Given the description of an element on the screen output the (x, y) to click on. 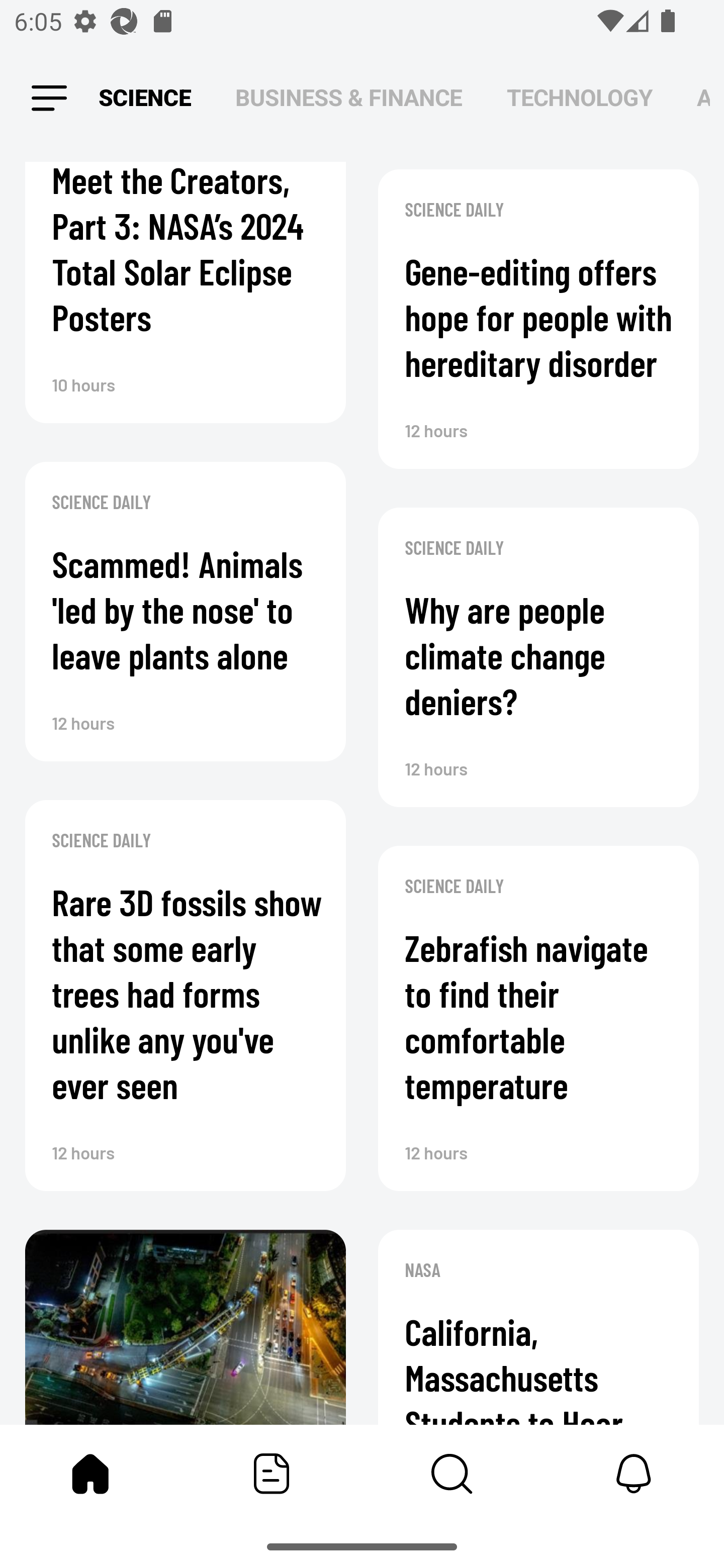
Leading Icon (49, 98)
BUSINESS & FINANCE (348, 97)
TECHNOLOGY (579, 97)
Featured (271, 1473)
Content Store (452, 1473)
Notifications (633, 1473)
